Given the description of an element on the screen output the (x, y) to click on. 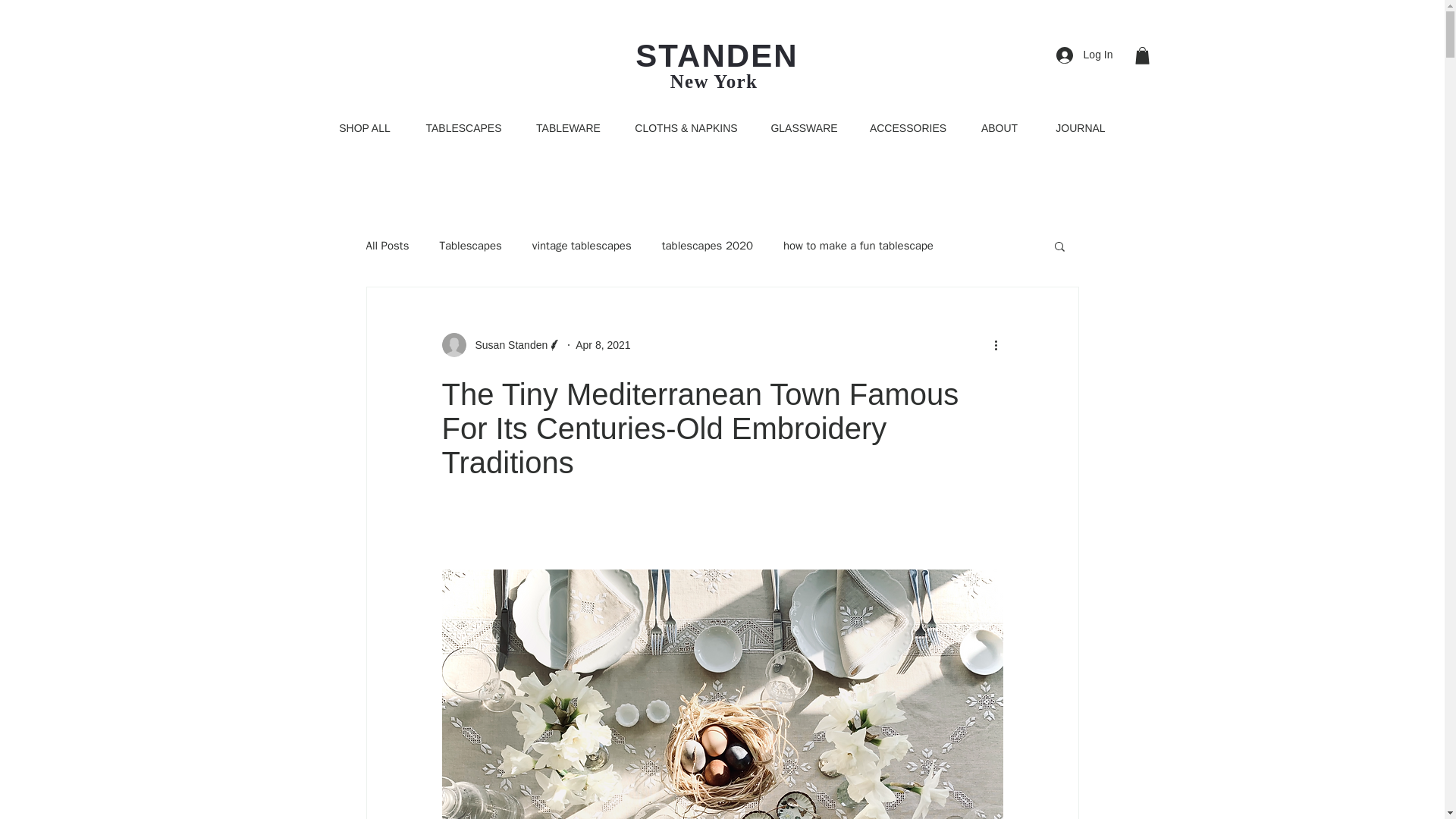
tablescapes 2020 (707, 245)
New York (713, 80)
Apr 8, 2021 (602, 345)
SHOP ALL (364, 128)
STANDEN (715, 55)
TABLEWARE (568, 128)
All Posts (387, 245)
Susan Standen (506, 345)
vintage tablescapes (581, 245)
Log In (1084, 54)
